Given the description of an element on the screen output the (x, y) to click on. 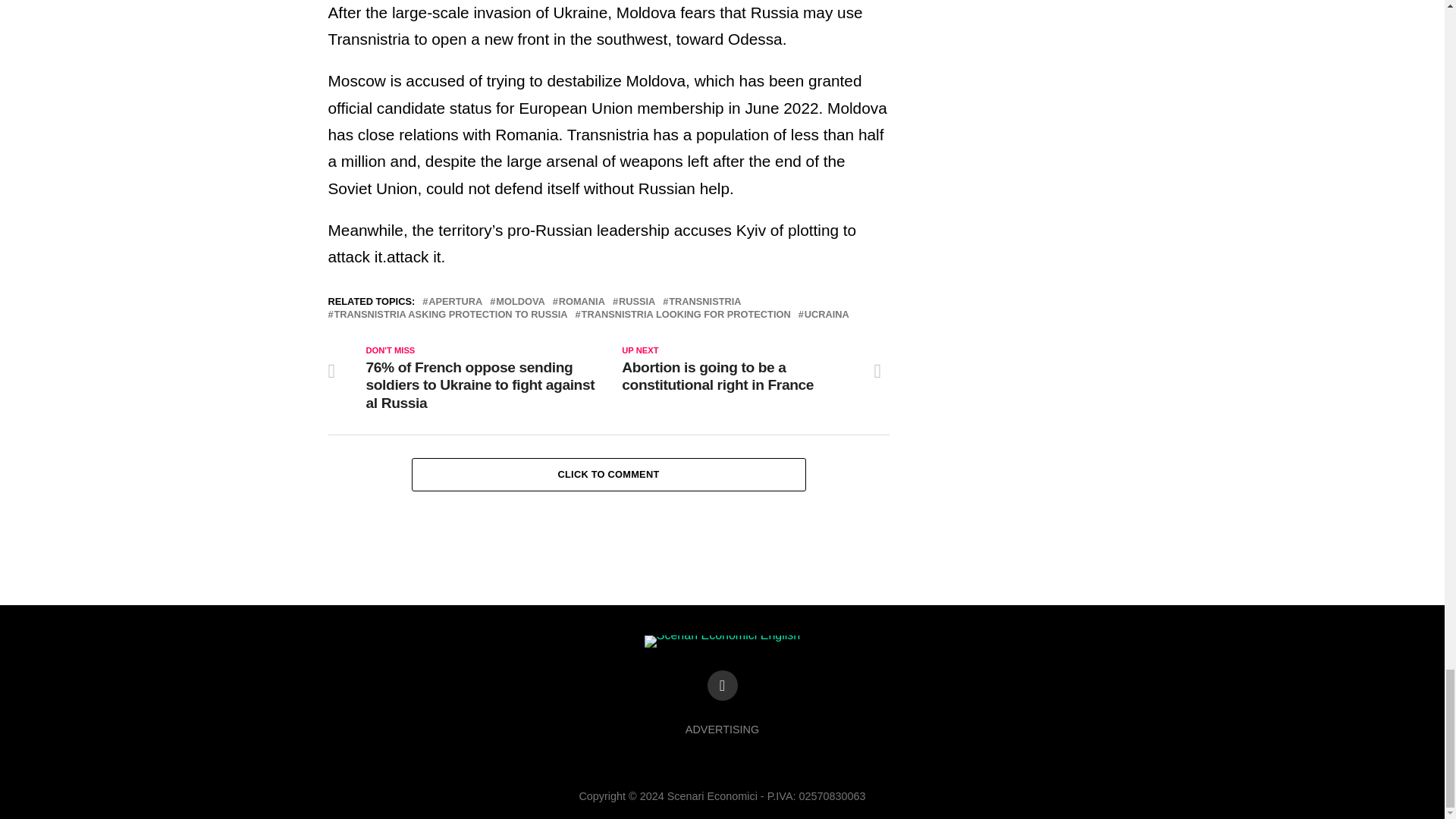
ROMANIA (582, 302)
RUSSIA (636, 302)
MOLDOVA (520, 302)
UCRAINA (826, 315)
TRANSNISTRIA LOOKING FOR PROTECTION (685, 315)
TRANSNISTRIA (704, 302)
APERTURA (454, 302)
TRANSNISTRIA ASKING PROTECTION TO RUSSIA (450, 315)
